Given the description of an element on the screen output the (x, y) to click on. 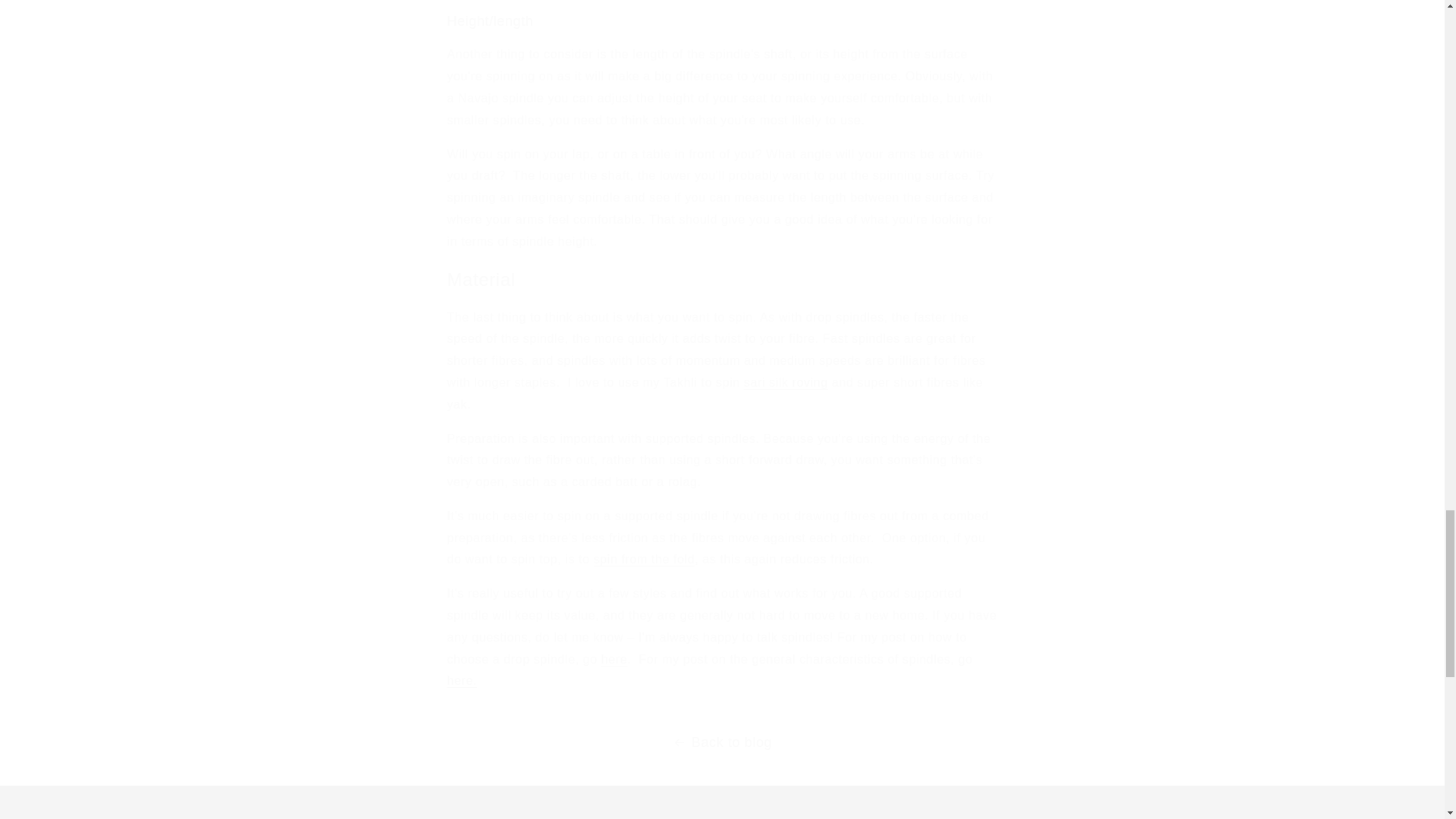
Abby's Yarns fold spinning external link (644, 558)
Choosing a drop spindle (614, 658)
Recycled sari silk roving (786, 382)
Choosing a spindle (461, 680)
